Given the description of an element on the screen output the (x, y) to click on. 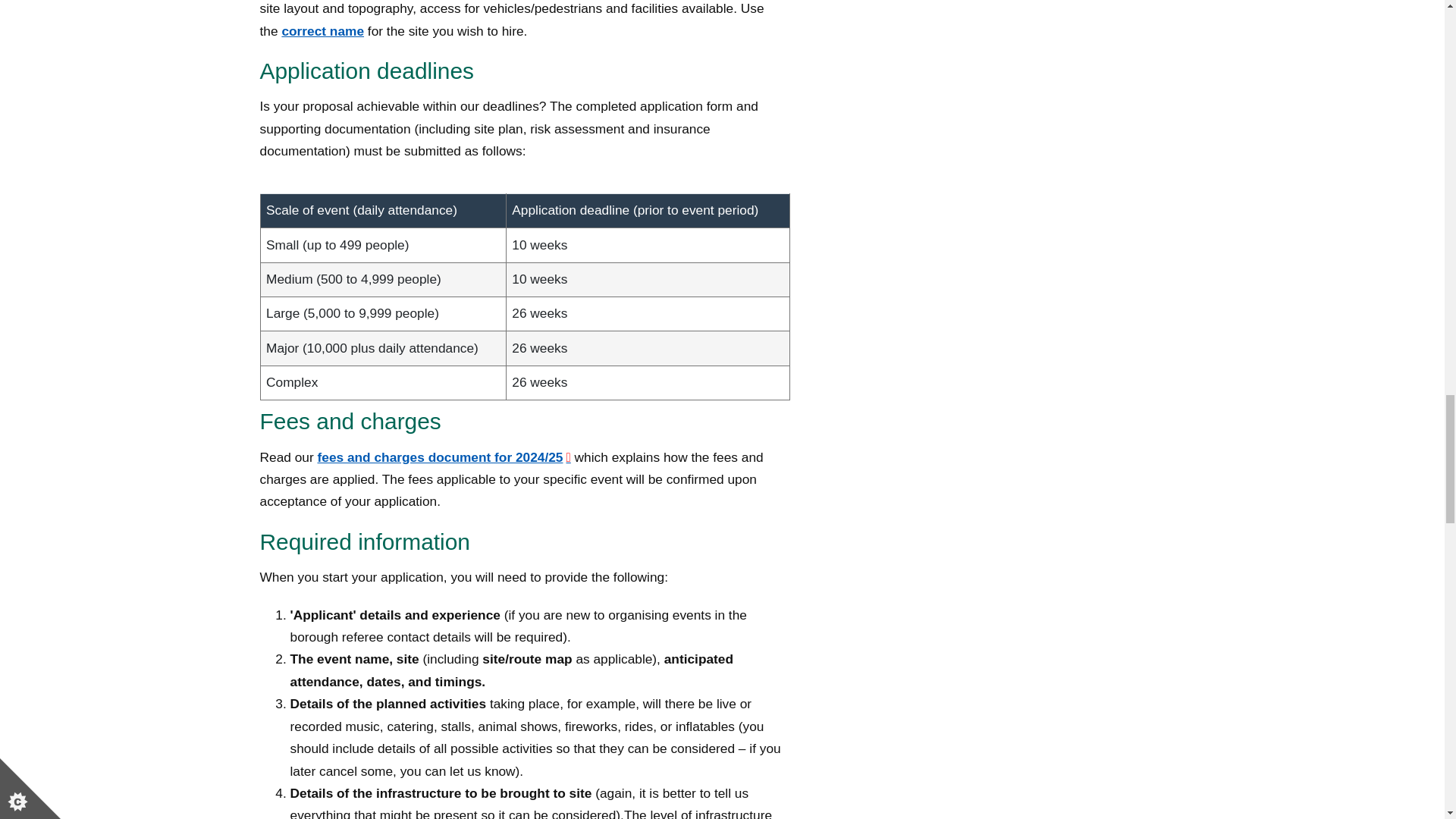
Parks Events Fees And Charges (443, 457)
correct name (322, 30)
